Given the description of an element on the screen output the (x, y) to click on. 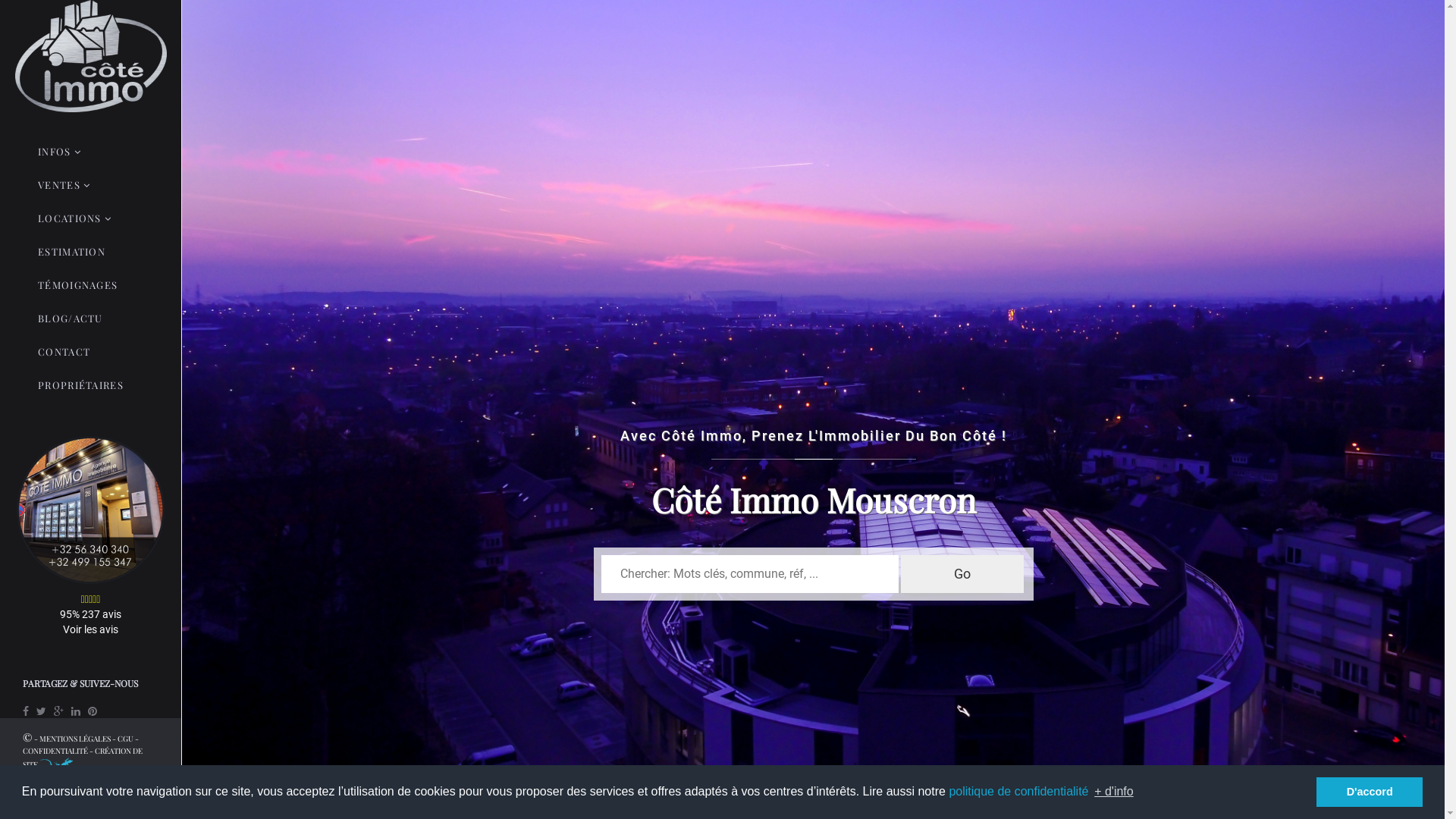
Go Element type: text (961, 574)
D'accord Element type: text (1369, 791)
INFOS Element type: text (59, 150)
Accueil Element type: hover (90, 56)
CGU Element type: text (125, 738)
CONTACT Element type: text (63, 351)
LOCATIONS Element type: text (74, 217)
+ d'info Element type: text (1113, 791)
ESTIMATION Element type: text (71, 250)
VENTES Element type: text (63, 184)
BLOG/ACTU Element type: text (70, 317)
Voir les avis Element type: text (90, 629)
